Given the description of an element on the screen output the (x, y) to click on. 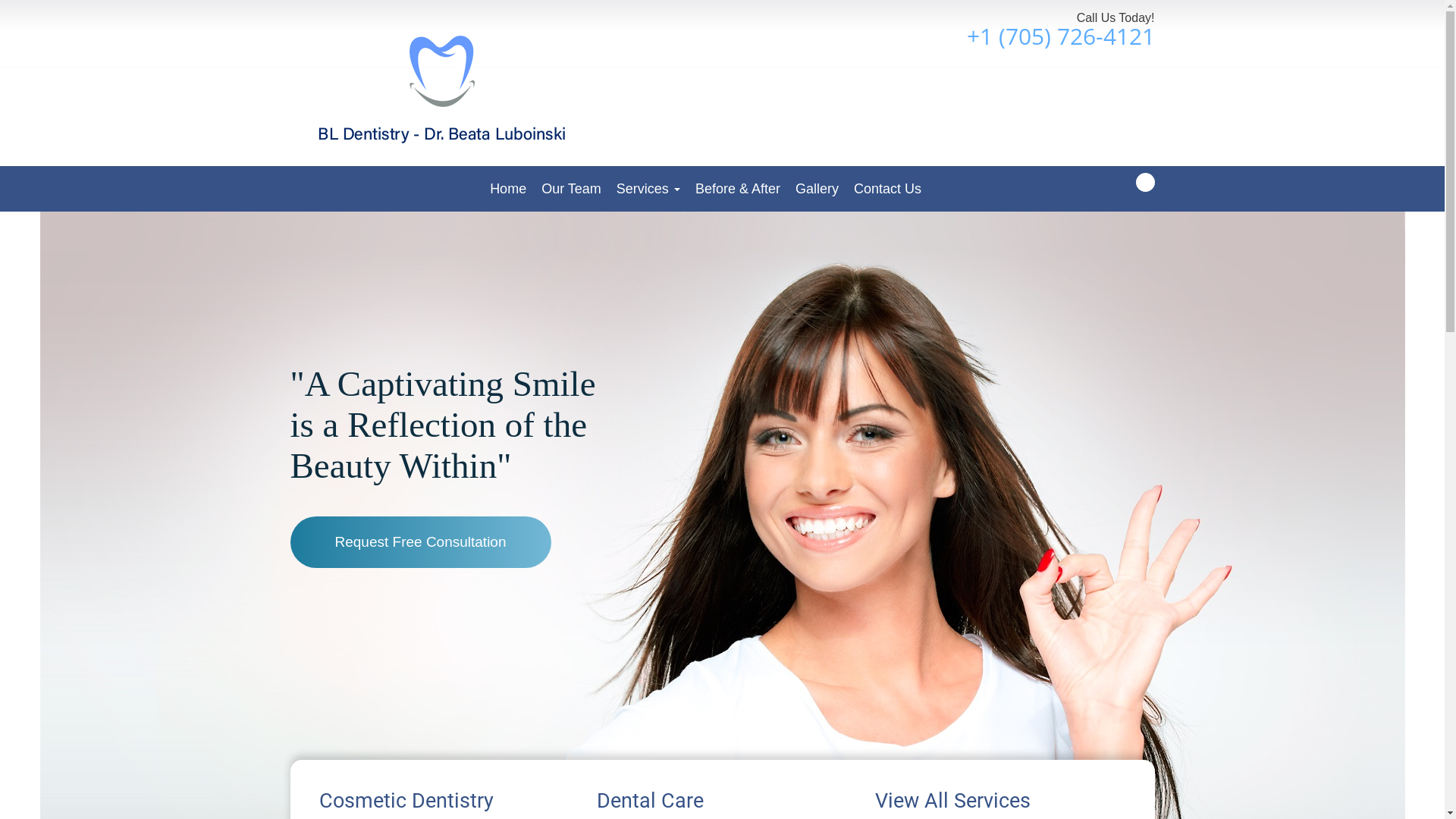
Services Element type: text (648, 188)
Home Element type: text (507, 188)
Gallery Element type: text (816, 188)
Dental Care Element type: text (721, 801)
Cosmetic Dentistry Element type: text (444, 801)
Before & After Element type: text (737, 188)
Contact Us Element type: text (887, 188)
+1 (705) 726-4121 Element type: text (1060, 35)
View All Services Element type: text (1000, 801)
Request Free Consultation Element type: text (419, 541)
Our Team Element type: text (571, 188)
